Given the description of an element on the screen output the (x, y) to click on. 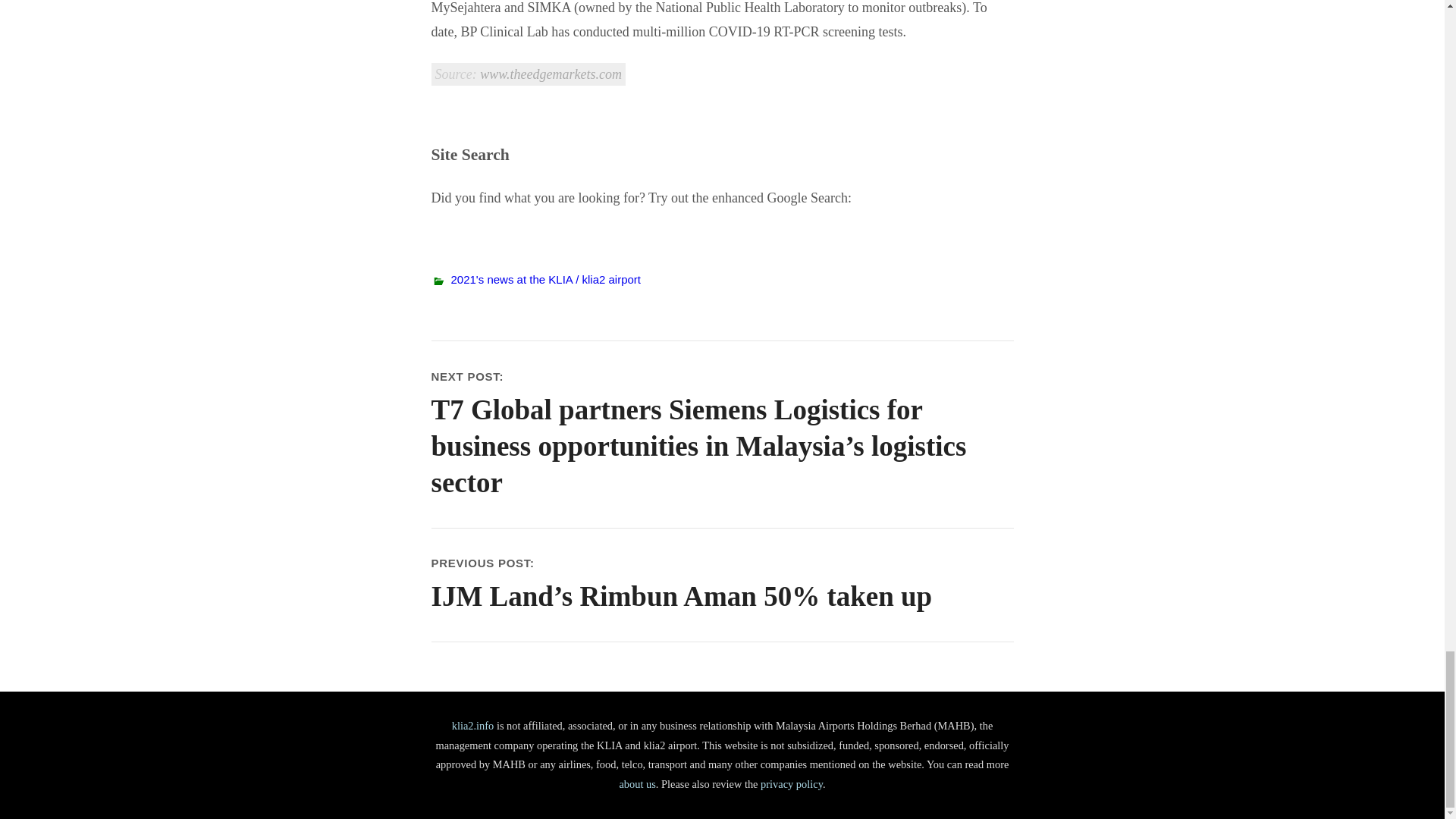
www.theedgemarkets.com (550, 73)
klia2.info (473, 725)
privacy policy (791, 784)
about us (636, 784)
